Given the description of an element on the screen output the (x, y) to click on. 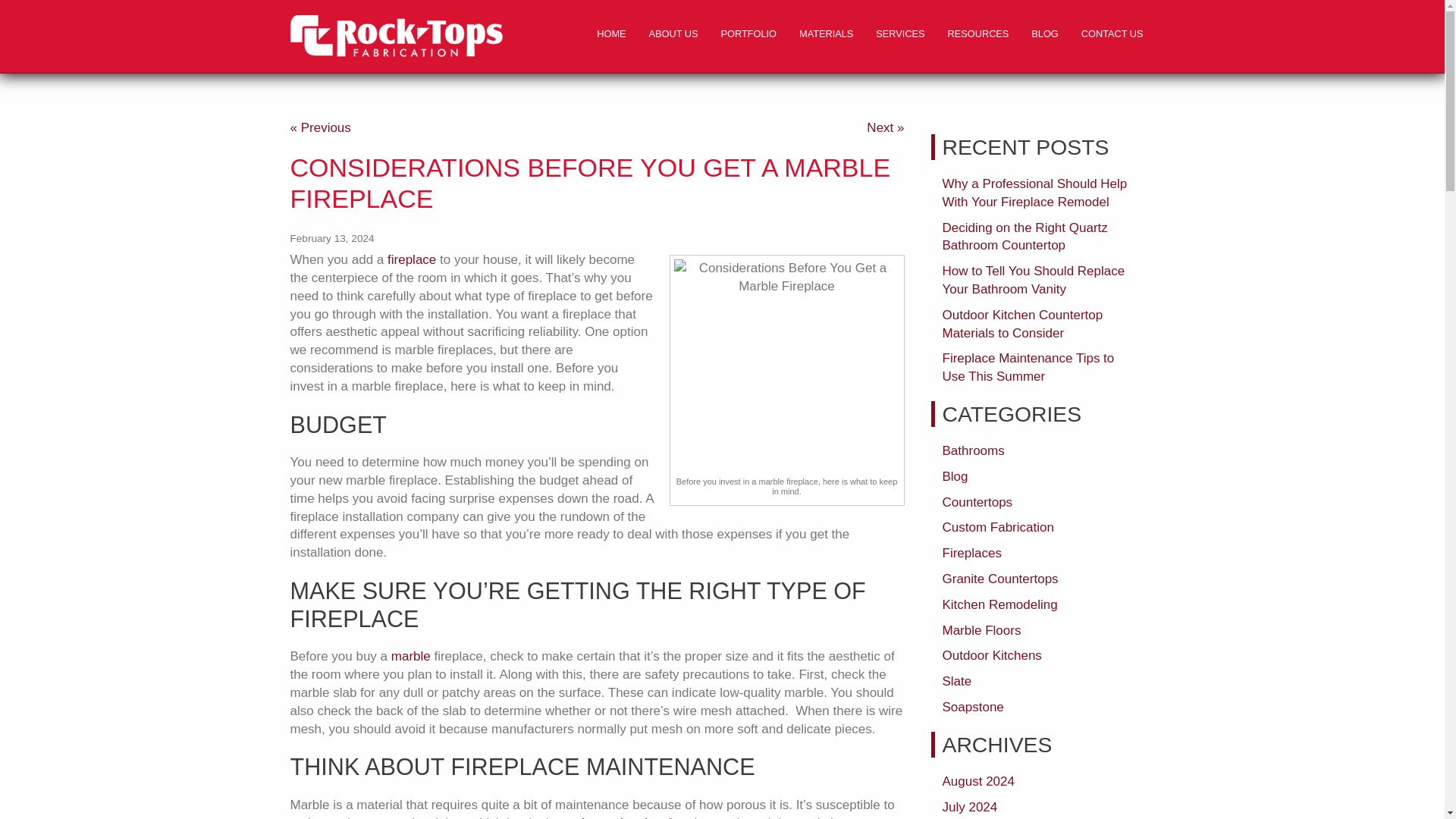
BLOG (1044, 34)
ABOUT US (673, 34)
RESOURCES (978, 34)
fireplace (411, 259)
MATERIALS (825, 34)
HOME (611, 34)
SERVICES (900, 34)
Rock Tops Fabrication (395, 36)
needs regular cleaning (620, 817)
marble (410, 656)
